Given the description of an element on the screen output the (x, y) to click on. 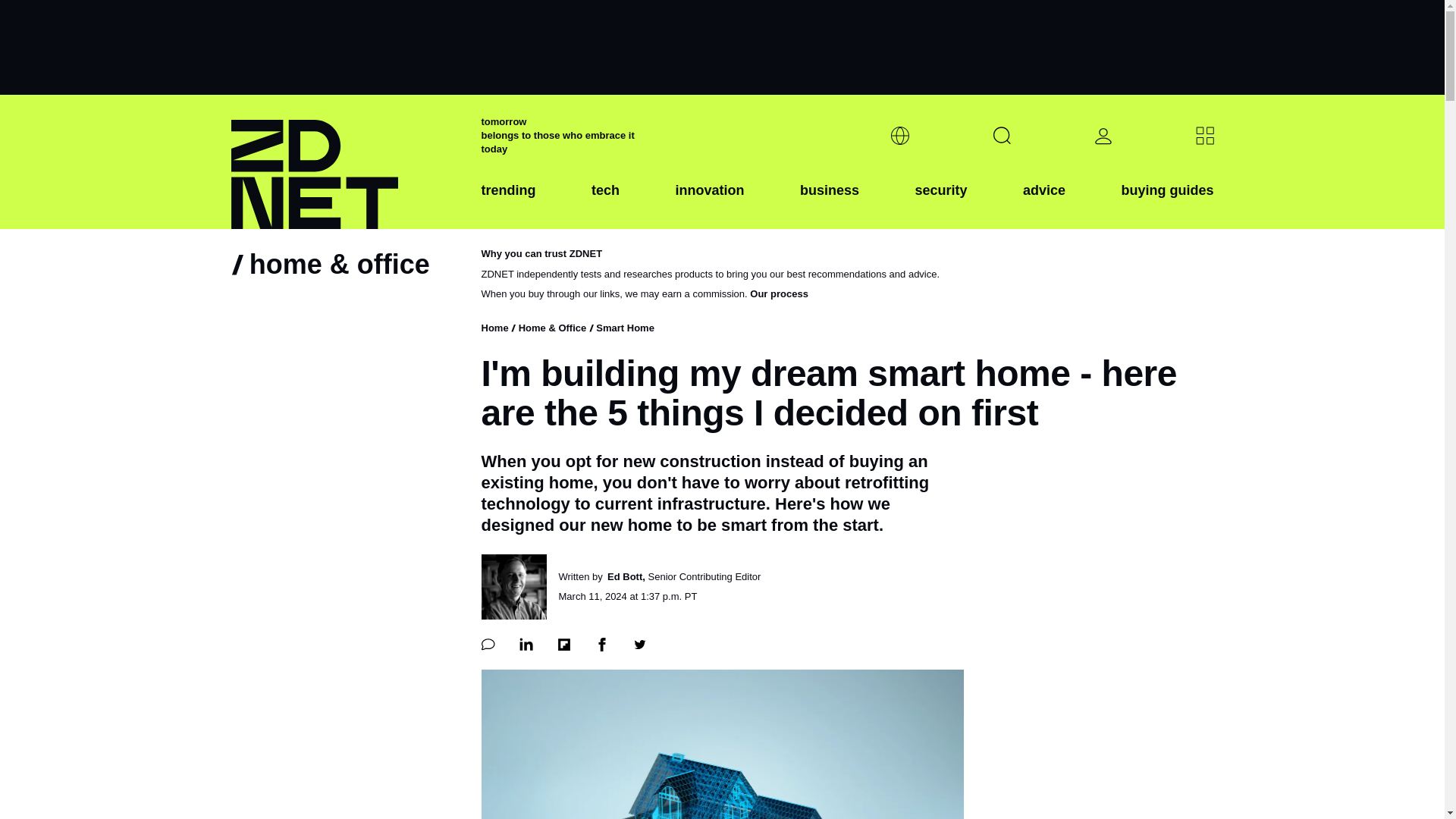
trending (507, 202)
ZDNET (346, 162)
